Given the description of an element on the screen output the (x, y) to click on. 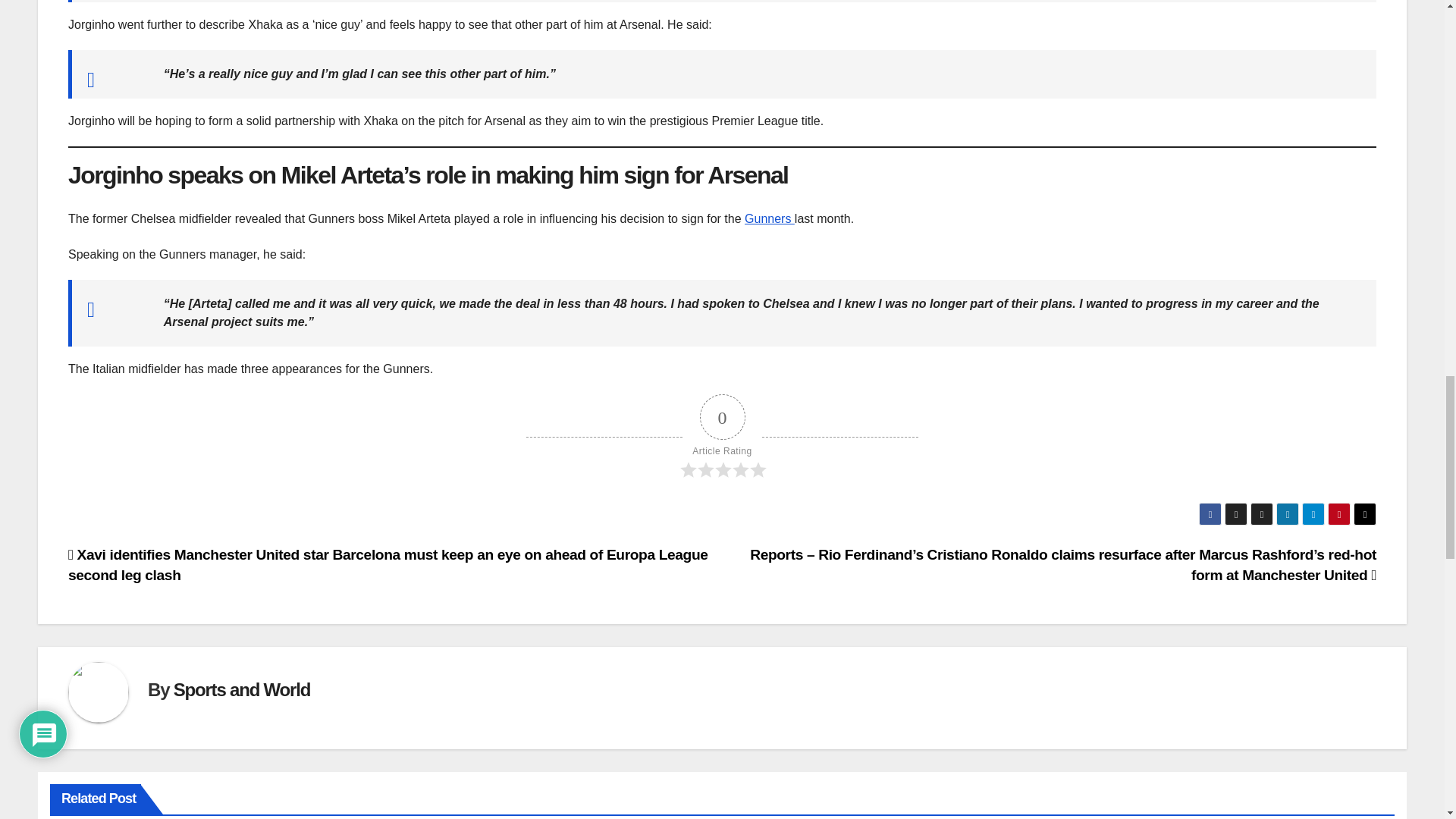
Gunners (769, 218)
